Given the description of an element on the screen output the (x, y) to click on. 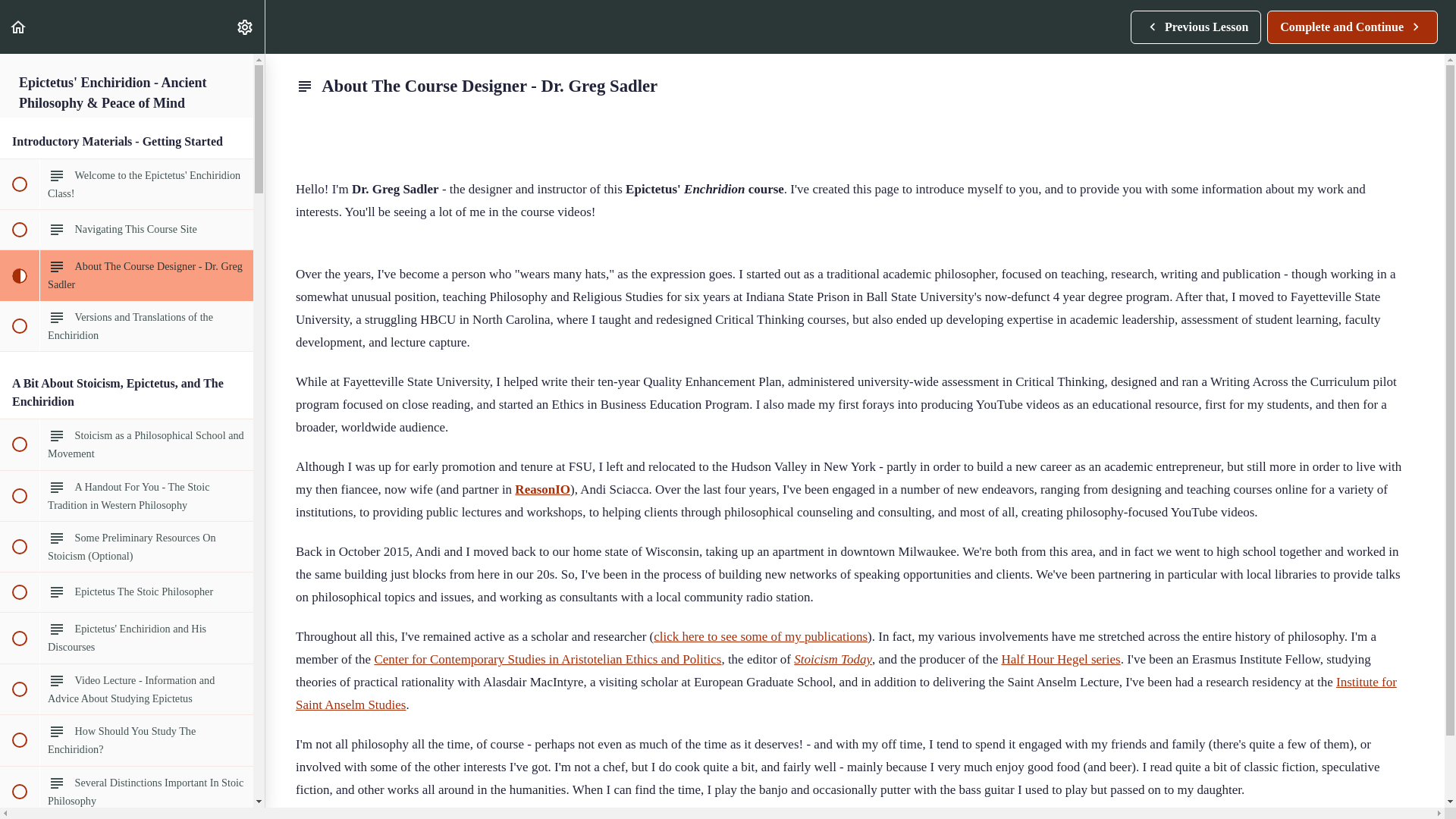
  Stoicism as a Philosophical School and Movement (126, 444)
  About The Course Designer - Dr. Greg Sadler (126, 275)
  Versions and Translations of the Enchiridion (126, 326)
Back to course curriculum (17, 27)
  Epictetus The Stoic Philosopher (126, 591)
  How Should You Study The Enchiridion? (126, 739)
  Several Distinctions Important In Stoic Philosophy (1352, 27)
  Navigating This Course Site (126, 791)
  Epictetus' Enchiridion and His Discourses (126, 229)
  Previous Lesson (126, 637)
Settings Menu (1195, 27)
  Welcome to the Epictetus' Enchiridion Class! (244, 27)
